Given the description of an element on the screen output the (x, y) to click on. 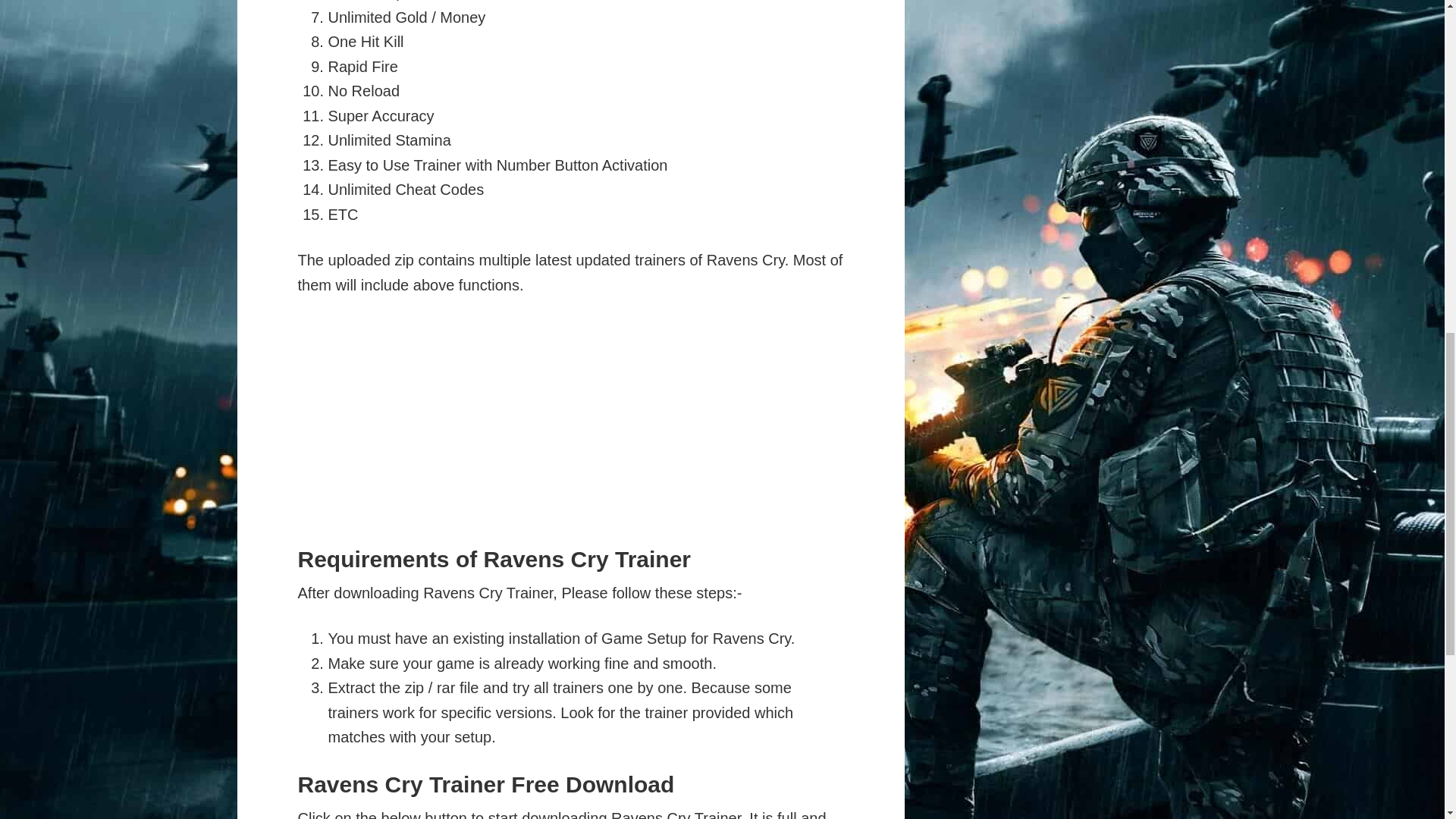
Advertisement (569, 424)
